Given the description of an element on the screen output the (x, y) to click on. 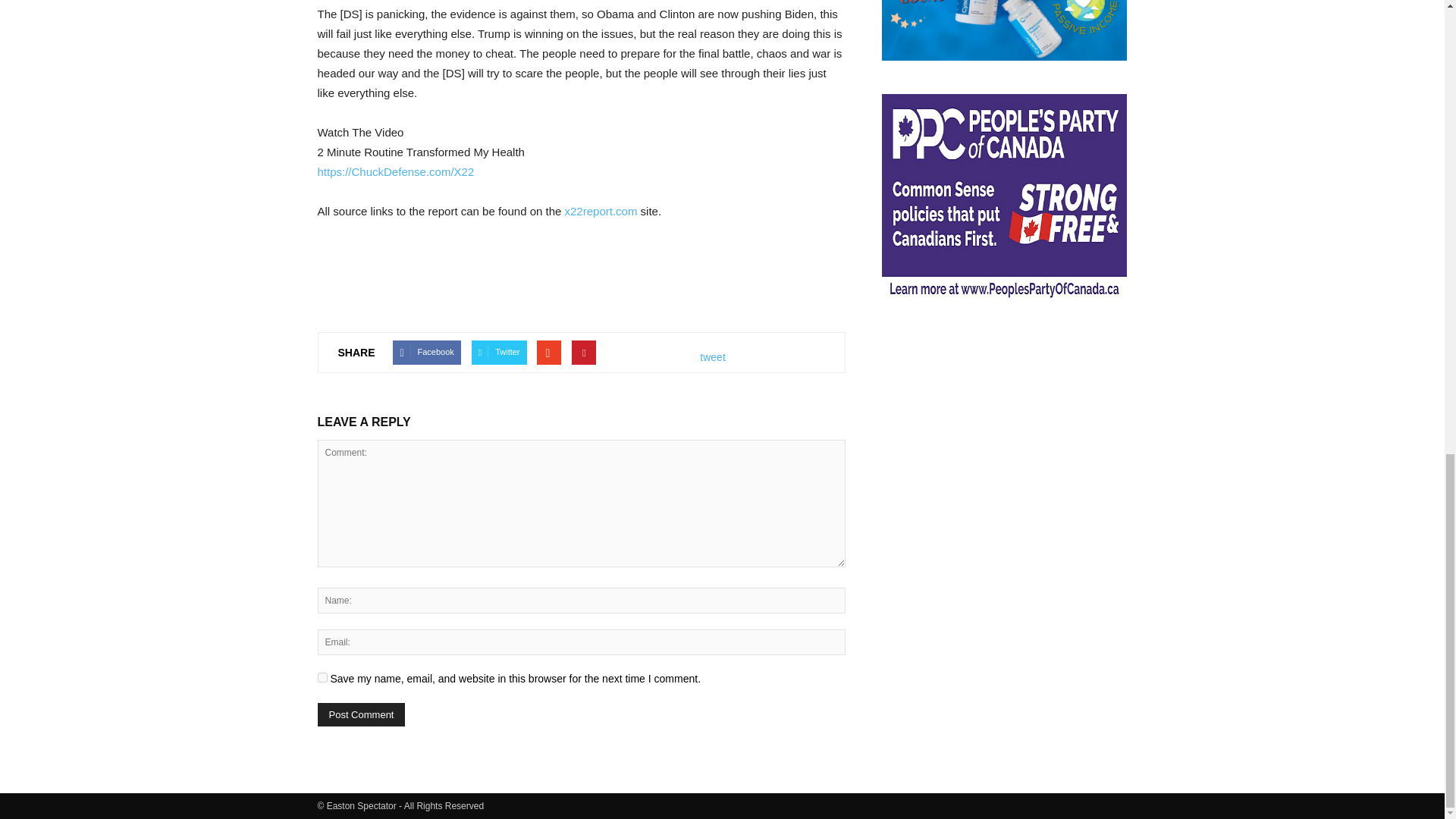
Post Comment (360, 714)
Advertisement (1003, 425)
yes (321, 677)
